Given the description of an element on the screen output the (x, y) to click on. 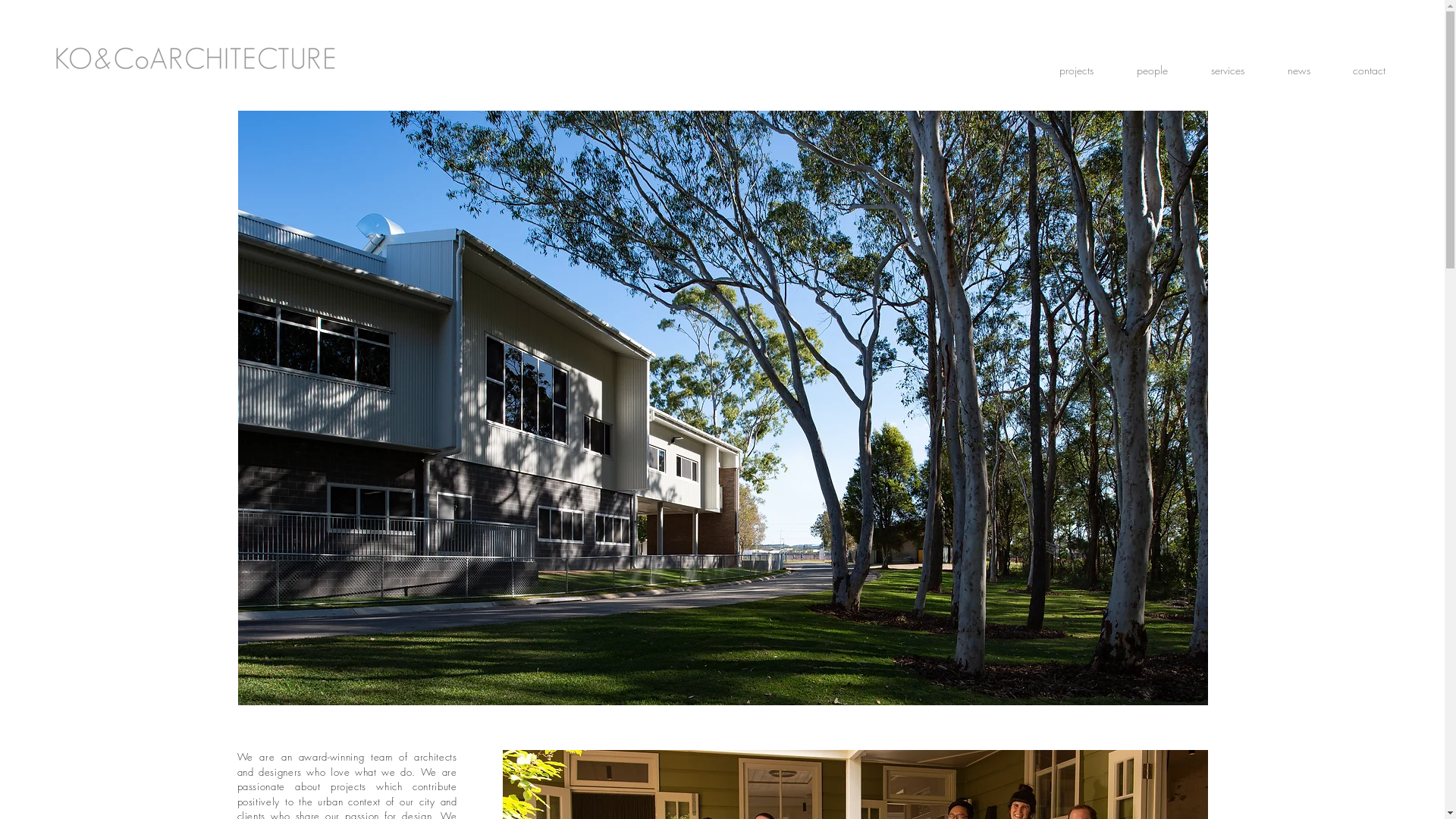
services Element type: text (1227, 70)
contact Element type: text (1368, 70)
news Element type: text (1298, 70)
people Element type: text (1151, 70)
projects Element type: text (1075, 70)
